Given the description of an element on the screen output the (x, y) to click on. 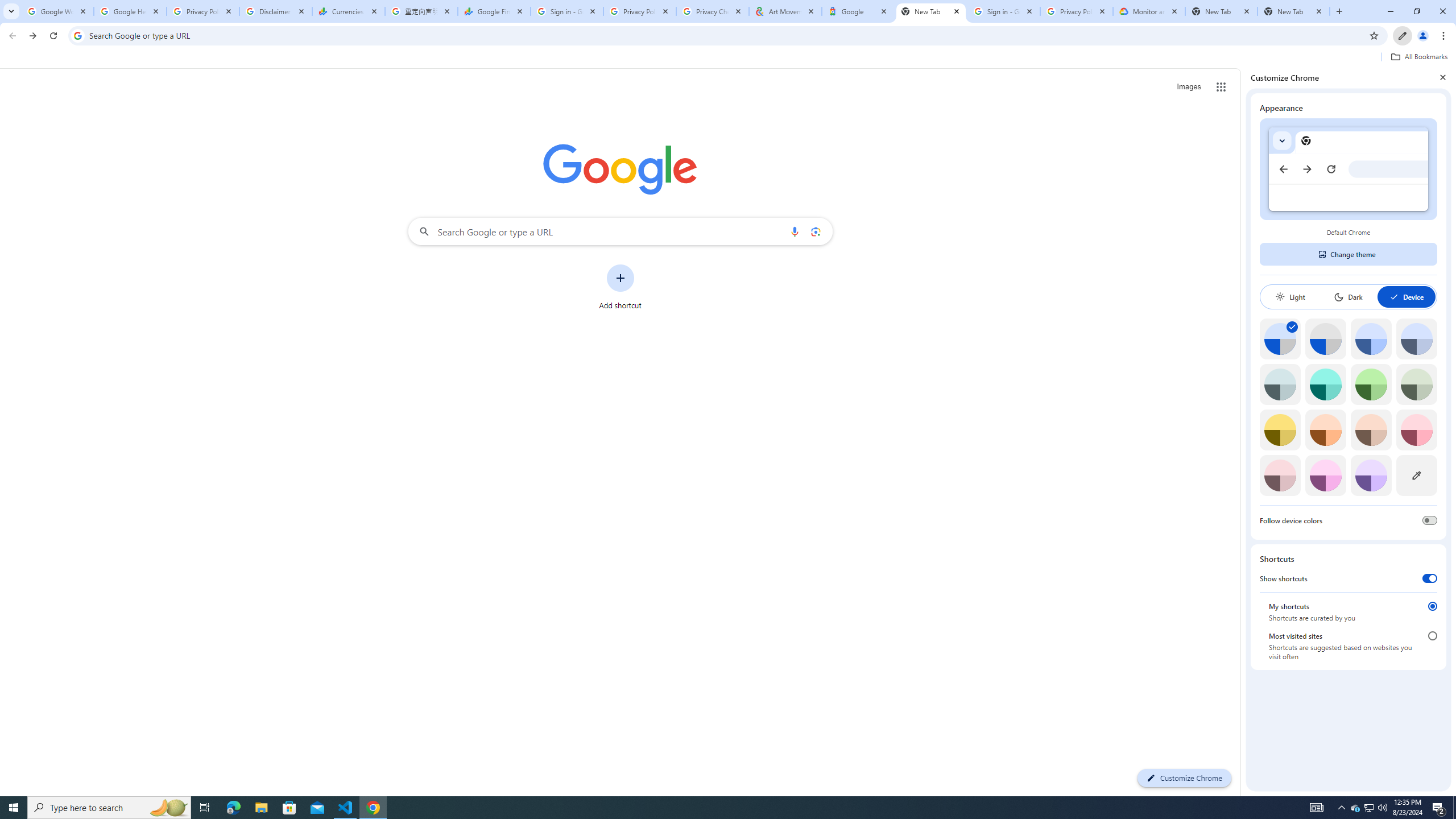
Search icon (77, 35)
Dark (1348, 296)
Apricot (1371, 429)
Google Workspace Admin Community (57, 11)
Default Chrome (1348, 169)
AutomationID: baseSvg (1394, 296)
Google (857, 11)
Default color (1279, 338)
Custom color (1416, 475)
Search for Images  (1188, 87)
